Given the description of an element on the screen output the (x, y) to click on. 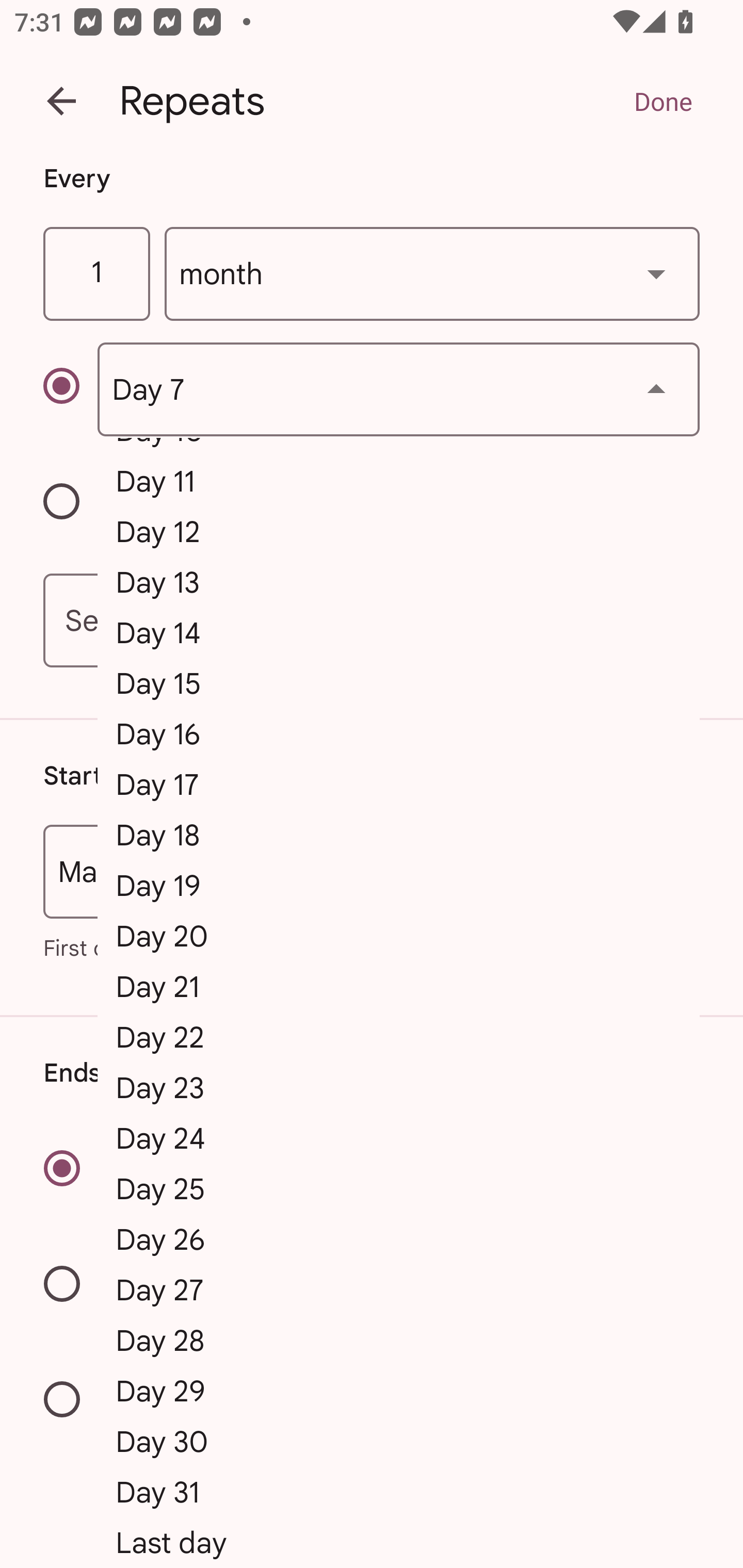
Back (61, 101)
Done (663, 101)
1 (96, 274)
month (431, 274)
Show dropdown menu (655, 273)
Day 7 (398, 388)
Show dropdown menu (655, 389)
Repeat monthly on a specific day of the month (70, 389)
